Given the description of an element on the screen output the (x, y) to click on. 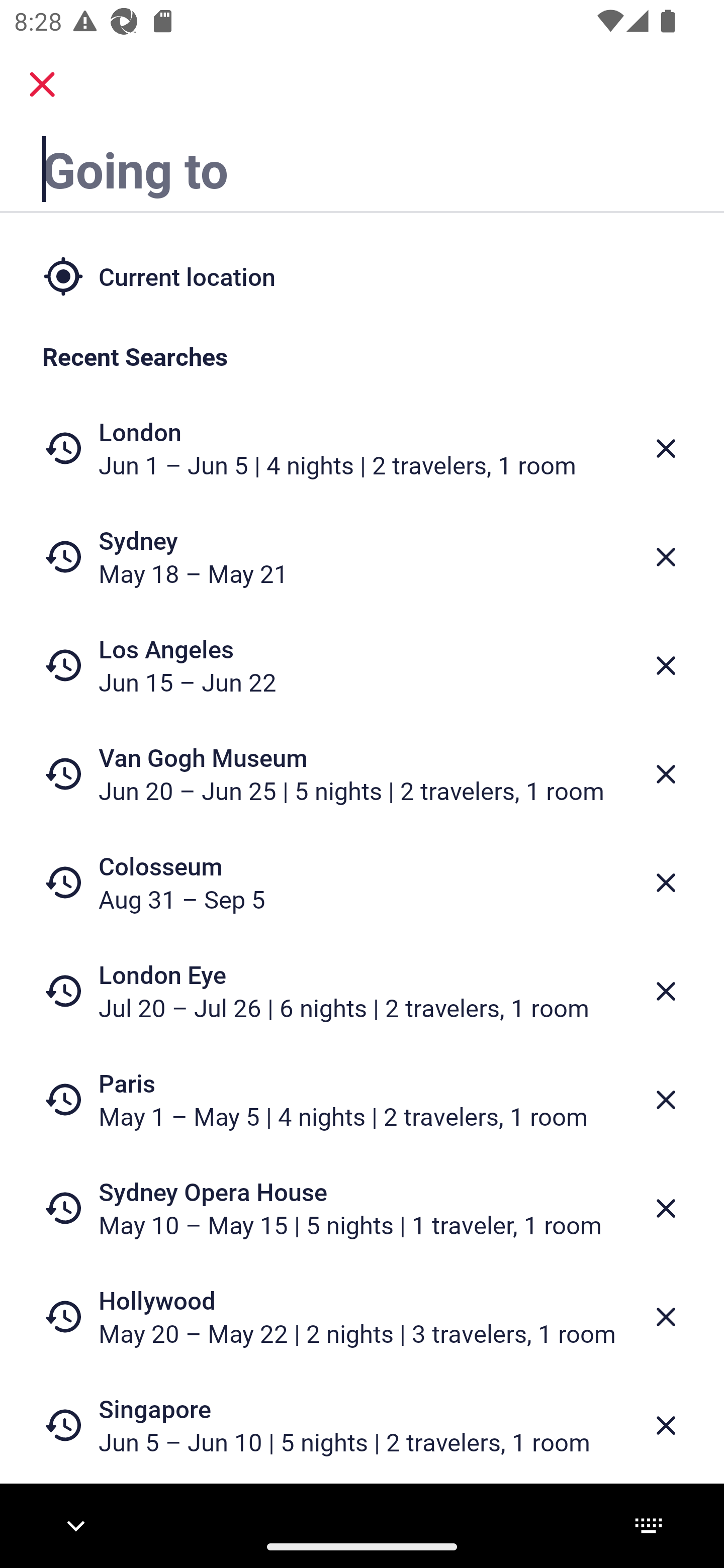
close. (42, 84)
Current location (362, 275)
Delete from recent searches (666, 448)
Sydney May 18 – May 21 (362, 557)
Delete from recent searches (666, 556)
Los Angeles Jun 15 – Jun 22 (362, 665)
Delete from recent searches (666, 666)
Delete from recent searches (666, 774)
Colosseum Aug 31 – Sep 5 (362, 881)
Delete from recent searches (666, 882)
Delete from recent searches (666, 990)
Delete from recent searches (666, 1100)
Delete from recent searches (666, 1208)
Delete from recent searches (666, 1316)
Delete from recent searches (666, 1424)
